Given the description of an element on the screen output the (x, y) to click on. 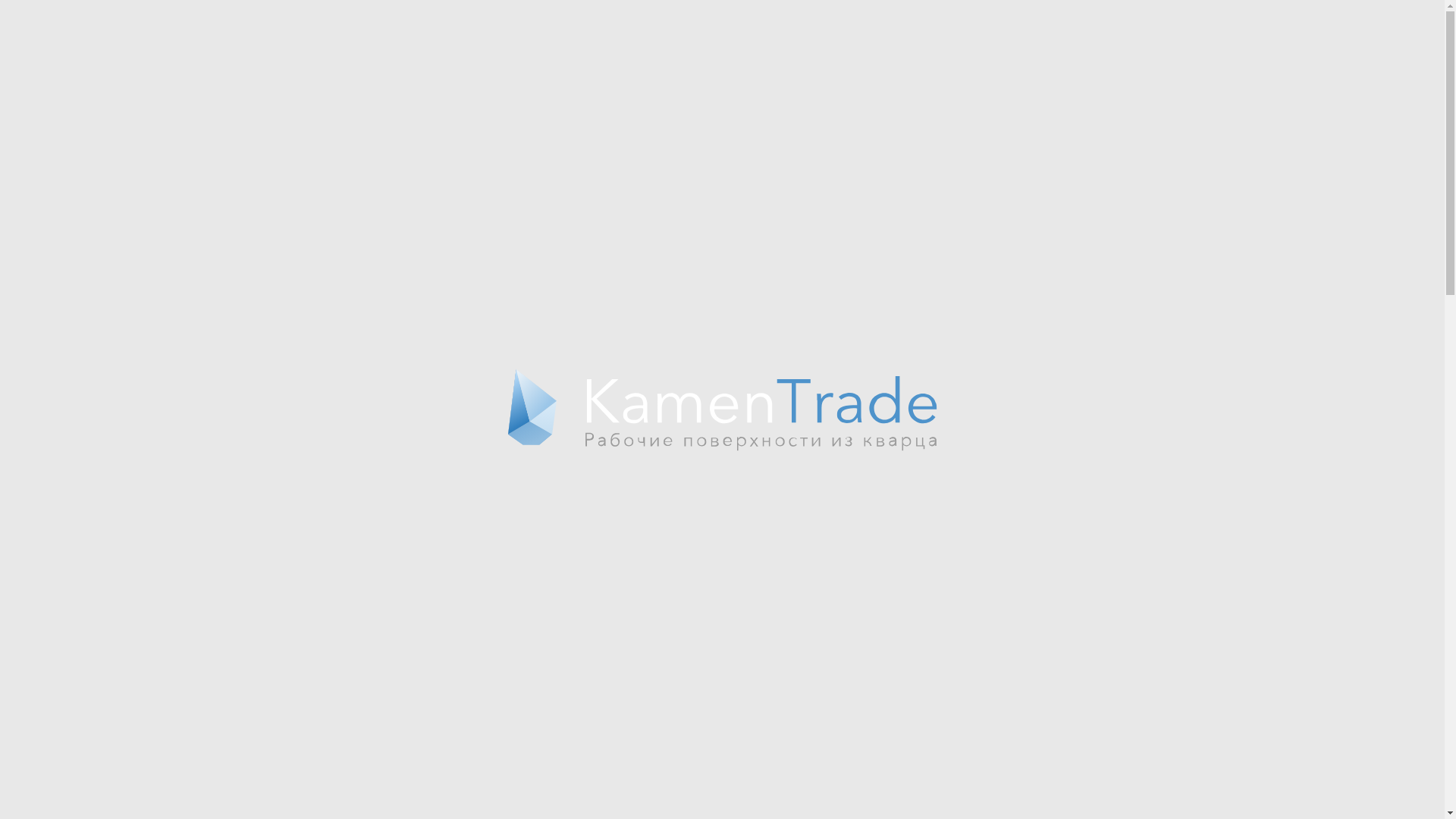
+375 (44) 588-08-80 Element type: text (1029, 20)
+375 (29) 588-08-80 Element type: text (1029, 36)
